Given the description of an element on the screen output the (x, y) to click on. 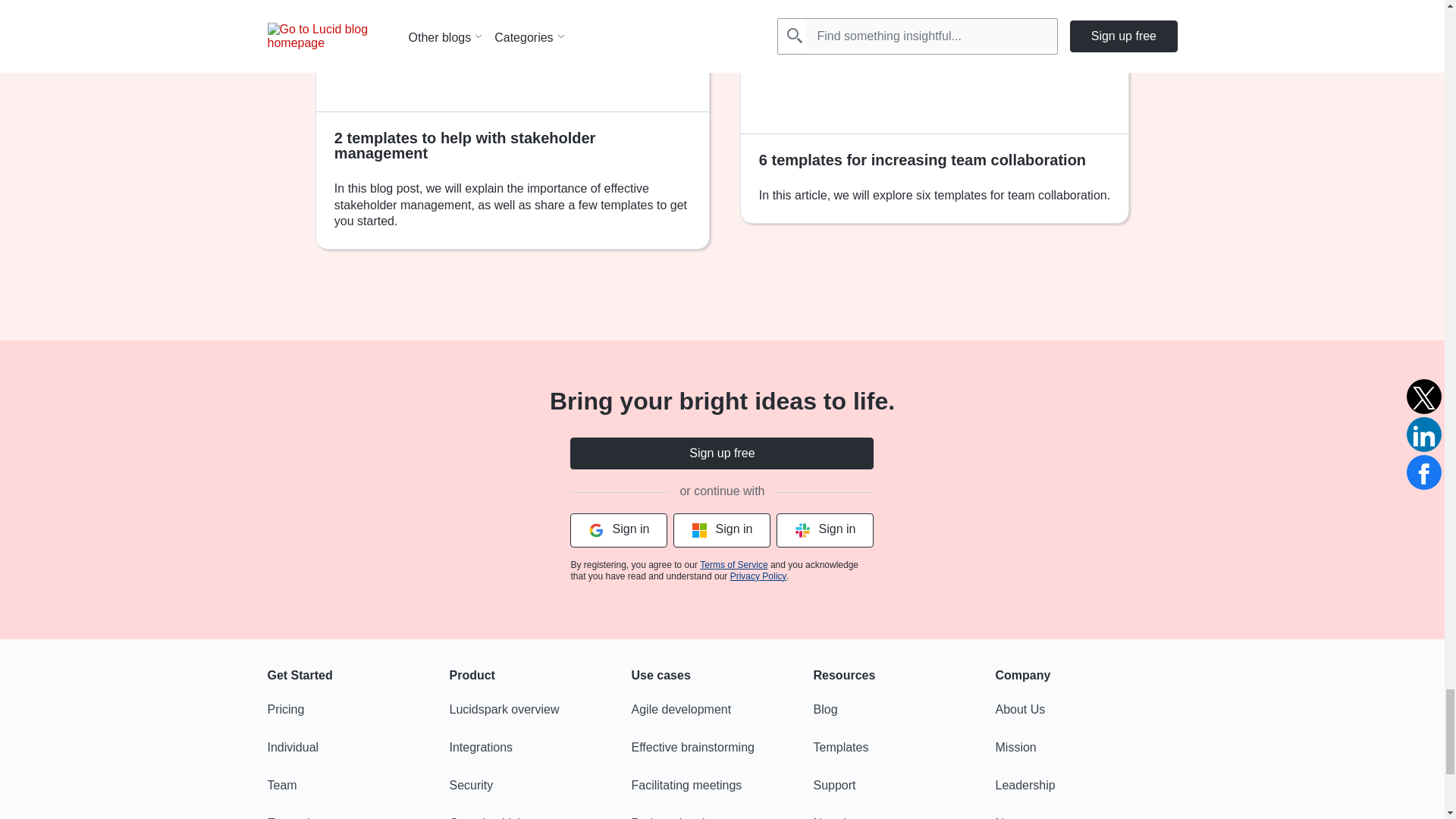
Sign in (824, 530)
Individual (357, 747)
Privacy Policy (758, 575)
Sign up free (721, 453)
Team (357, 785)
Integrations (539, 747)
Sign in (618, 530)
Lucidspark overview (539, 709)
Enterprise (357, 813)
Security (539, 785)
